Given the description of an element on the screen output the (x, y) to click on. 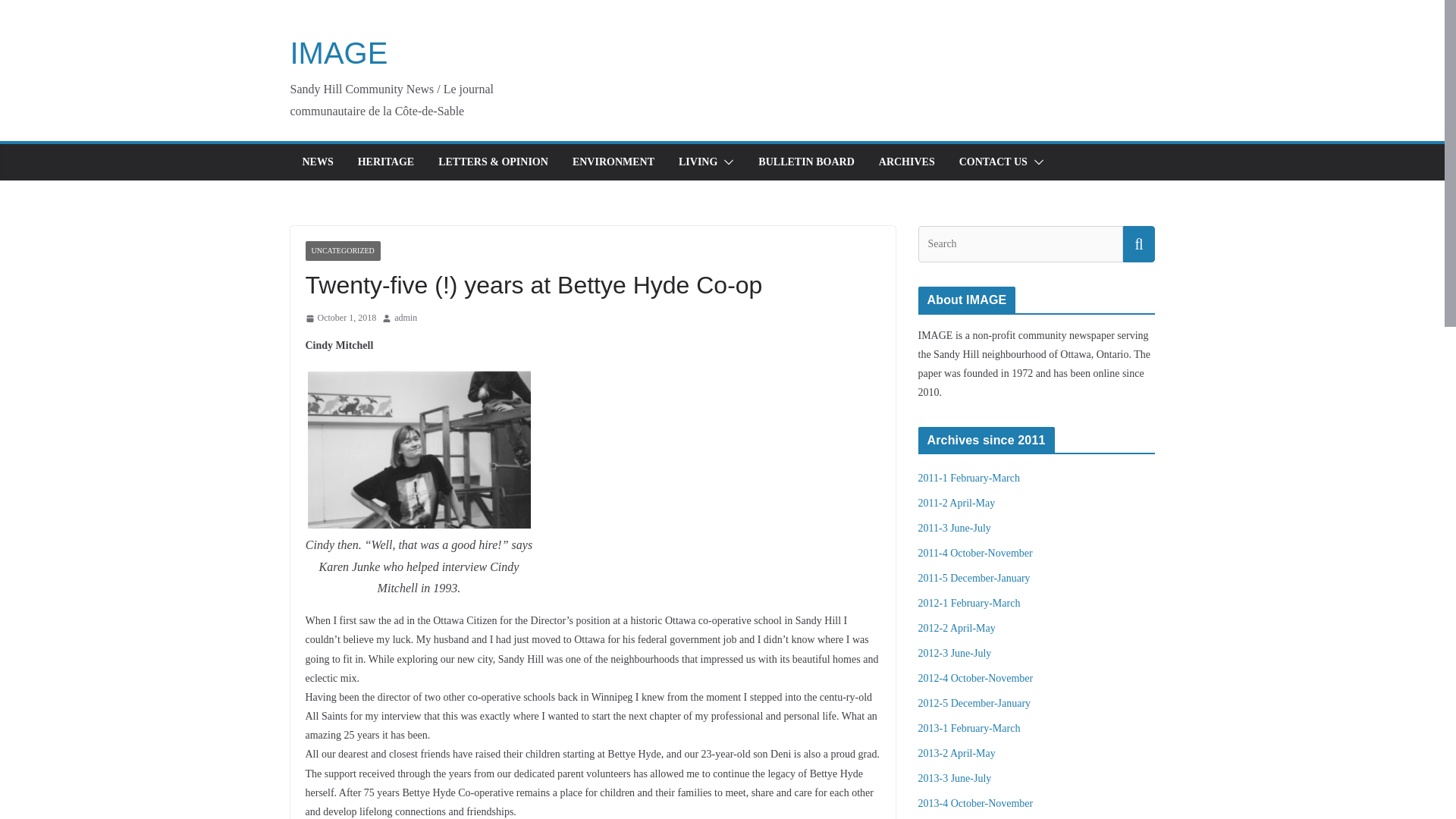
2011-1 February-March (968, 478)
10:15 am (339, 318)
ARCHIVES (906, 161)
2011-3 June-July (953, 527)
October 1, 2018 (339, 318)
2012-5 December-January (973, 703)
2013-2 April-May (955, 753)
2012-3 June-July (954, 653)
UNCATEGORIZED (342, 250)
BULLETIN BOARD (805, 161)
